Given the description of an element on the screen output the (x, y) to click on. 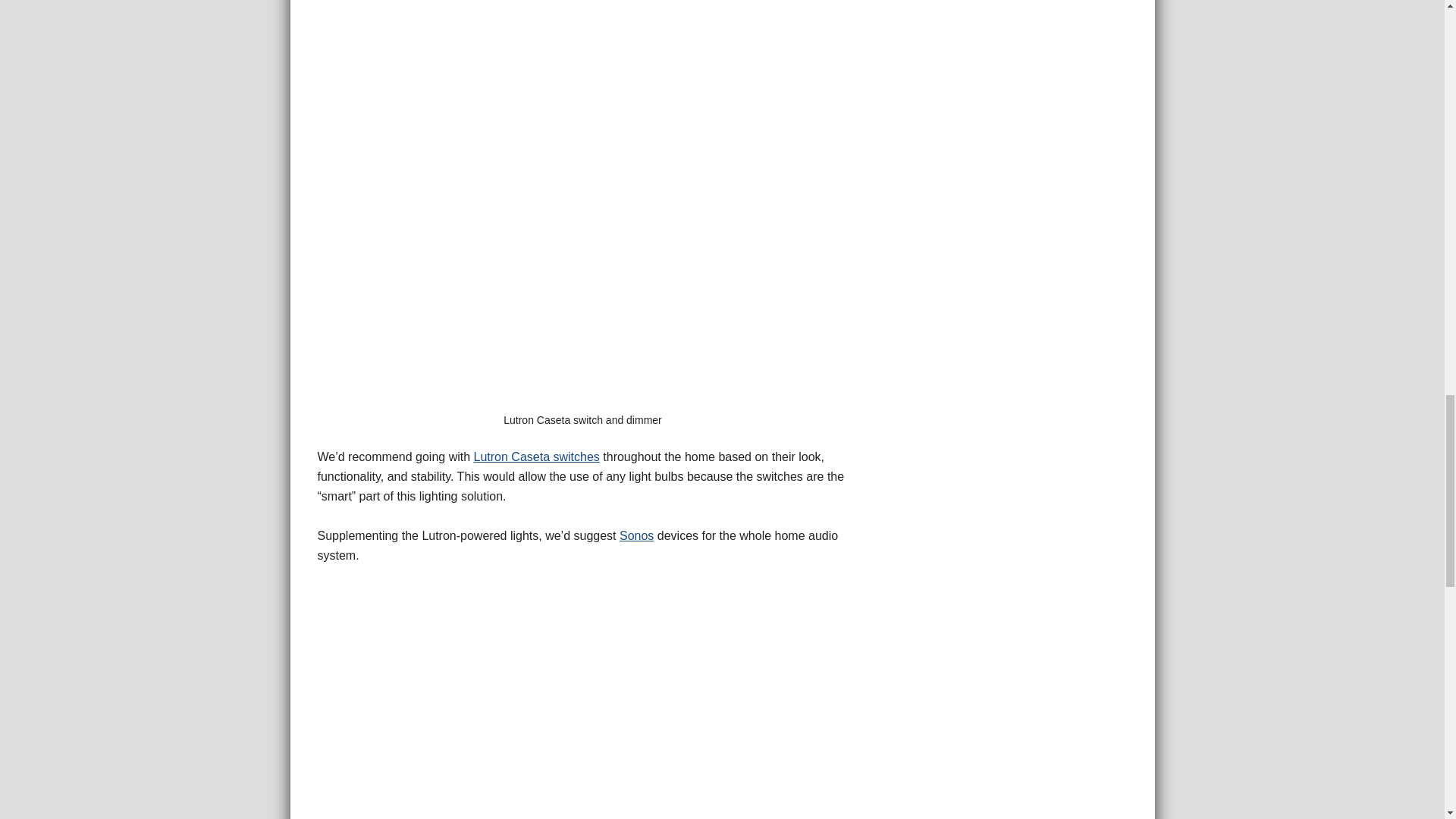
Sonos (636, 535)
Lutron Caseta switches (536, 456)
